Given the description of an element on the screen output the (x, y) to click on. 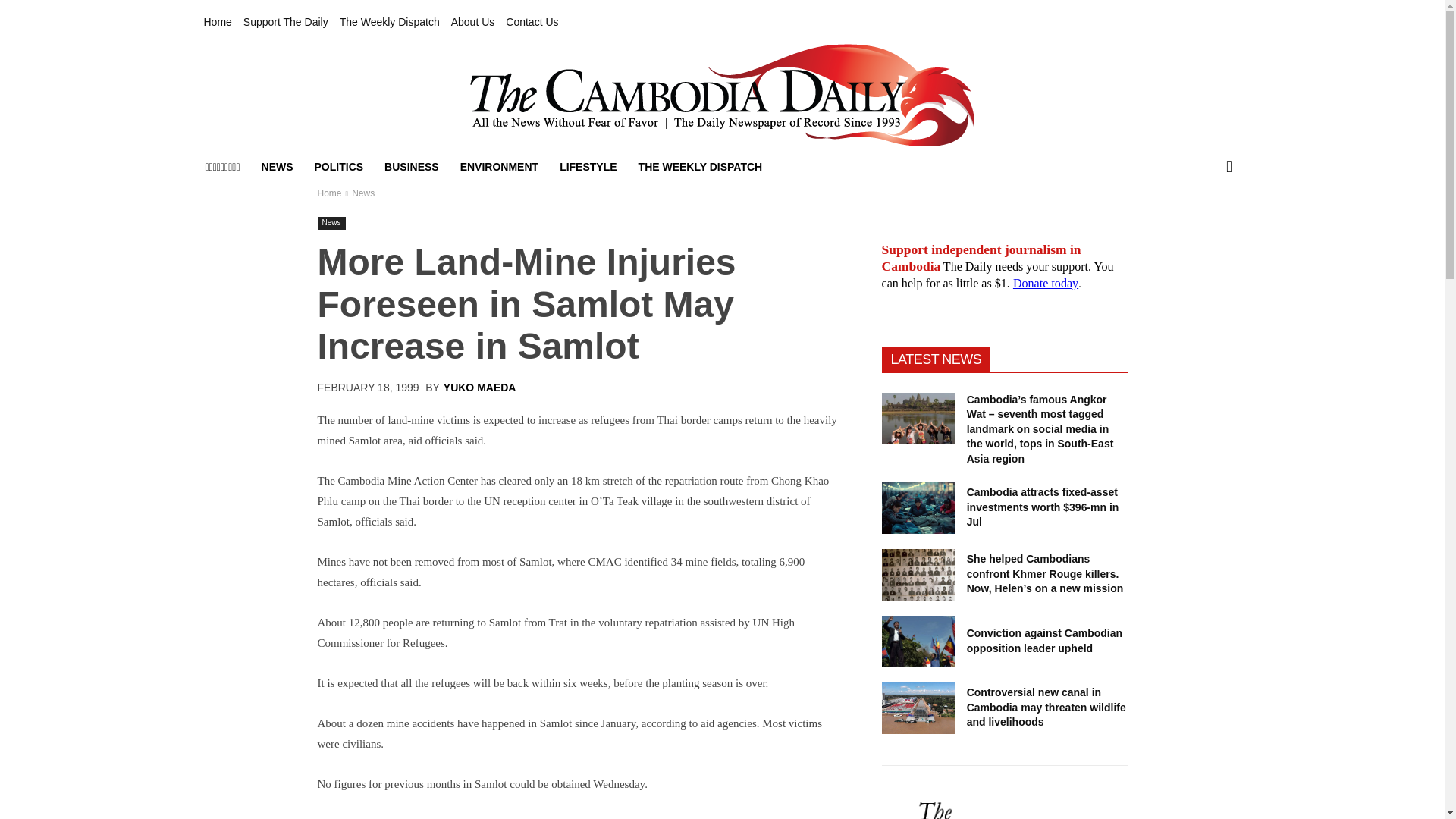
About Us (473, 21)
BUSINESS (411, 166)
Home (217, 21)
Support The Daily (286, 21)
View all posts in News (363, 193)
All the news without fear or favor (722, 94)
News (363, 193)
POLITICS (339, 166)
All the news without fear or favor (721, 94)
LIFESTYLE (587, 166)
